Given the description of an element on the screen output the (x, y) to click on. 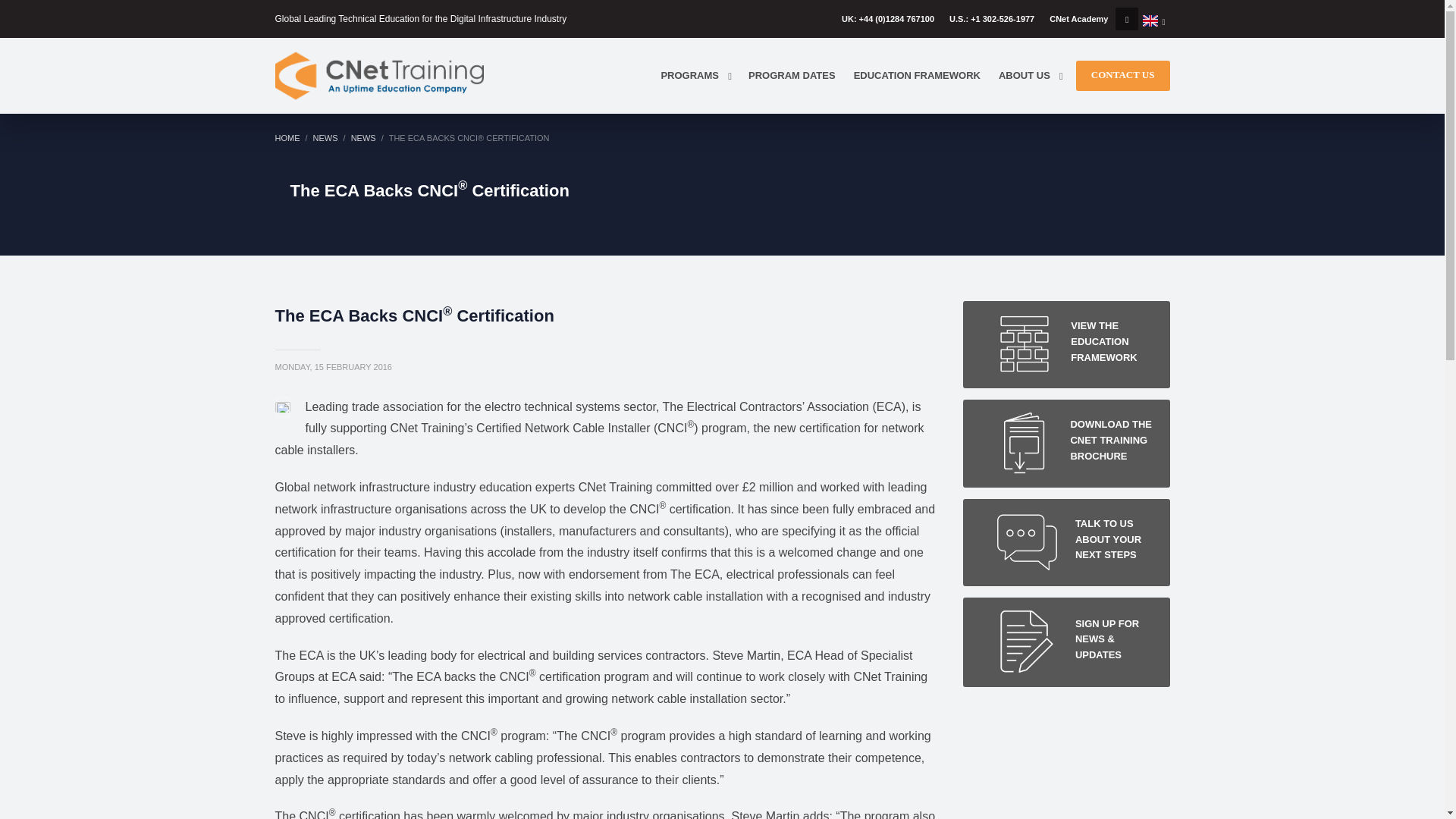
Framework (1066, 344)
UK (1153, 20)
News (325, 137)
ECA-Logo (282, 407)
PROGRAMS (694, 76)
Subscribe (1066, 642)
Contact Us (1122, 75)
Subscribe (1066, 542)
CNet Academy (1078, 18)
Framework (1066, 442)
